Given the description of an element on the screen output the (x, y) to click on. 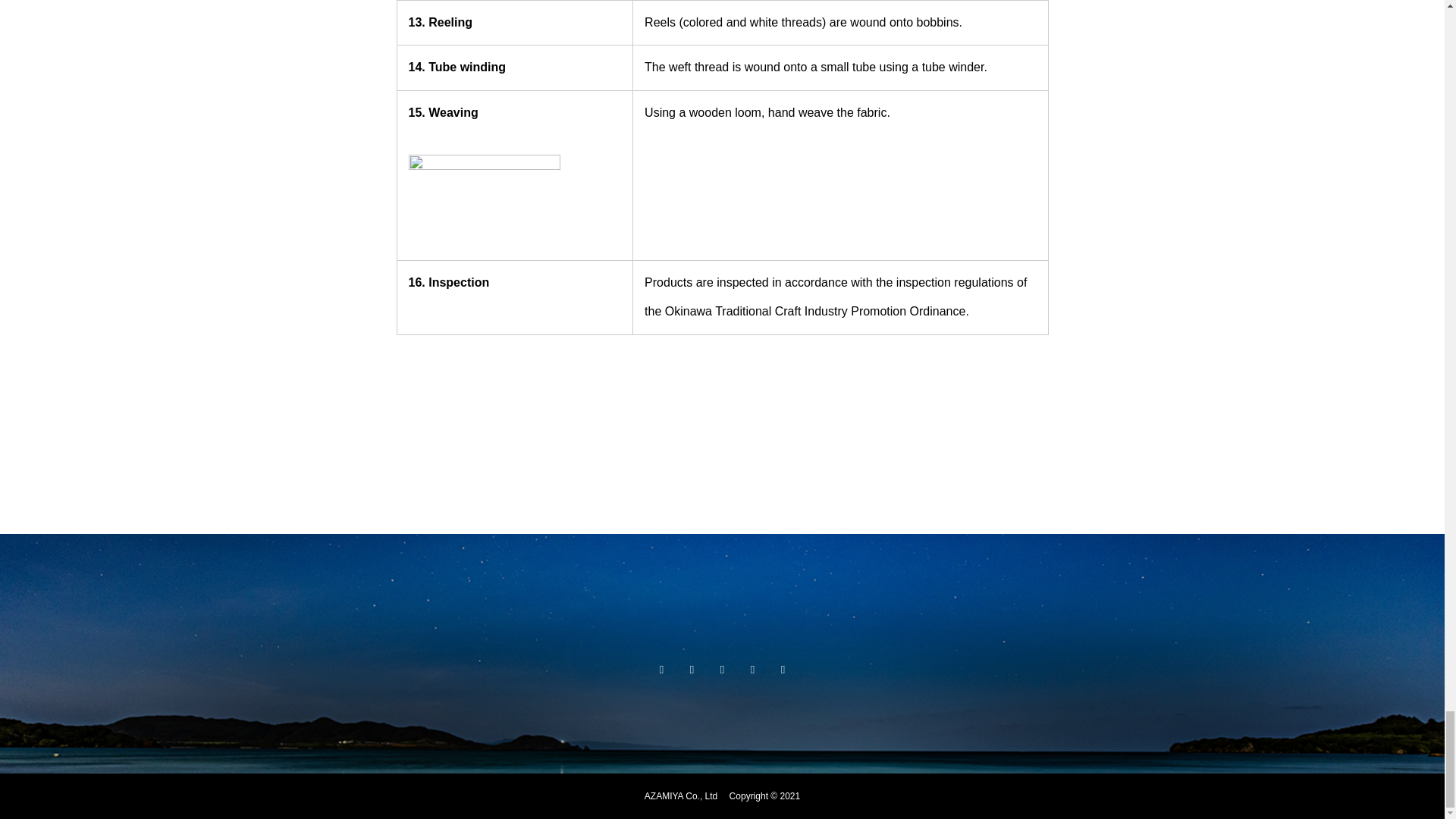
RSS (782, 668)
Instagram (660, 668)
Facebook (721, 668)
Twitter (691, 668)
Youtube (752, 668)
